Given the description of an element on the screen output the (x, y) to click on. 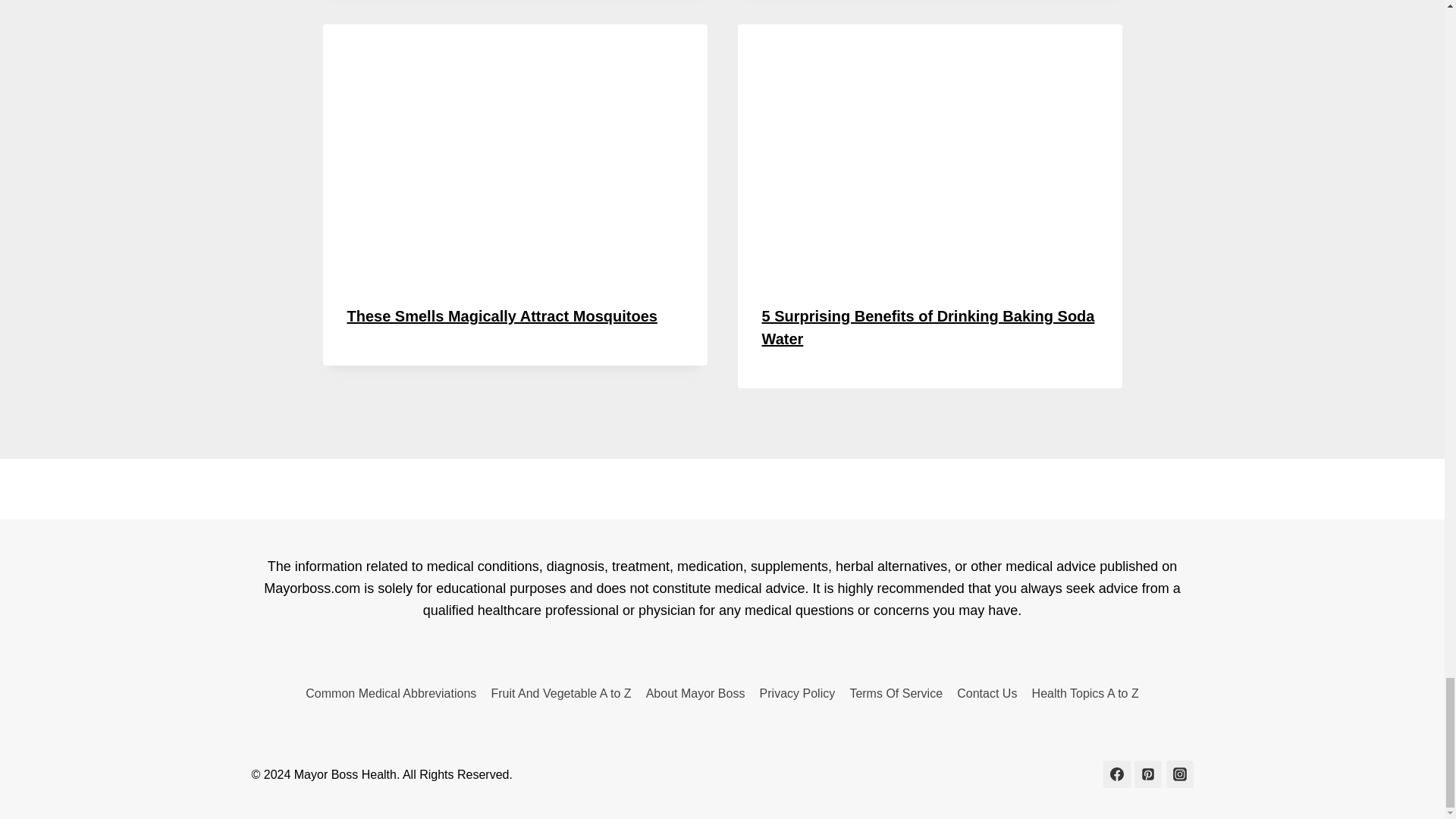
About Mayor Boss (695, 693)
Contact Us (987, 693)
Privacy Policy (797, 693)
Fruit And Vegetable A to Z (561, 693)
5 Surprising Benefits of Drinking Baking Soda Water (927, 327)
Health Topics A to Z (1085, 693)
Common Medical Abbreviations (390, 693)
Terms Of Service (896, 693)
These Smells Magically Attract Mosquitoes (502, 315)
